Given the description of an element on the screen output the (x, y) to click on. 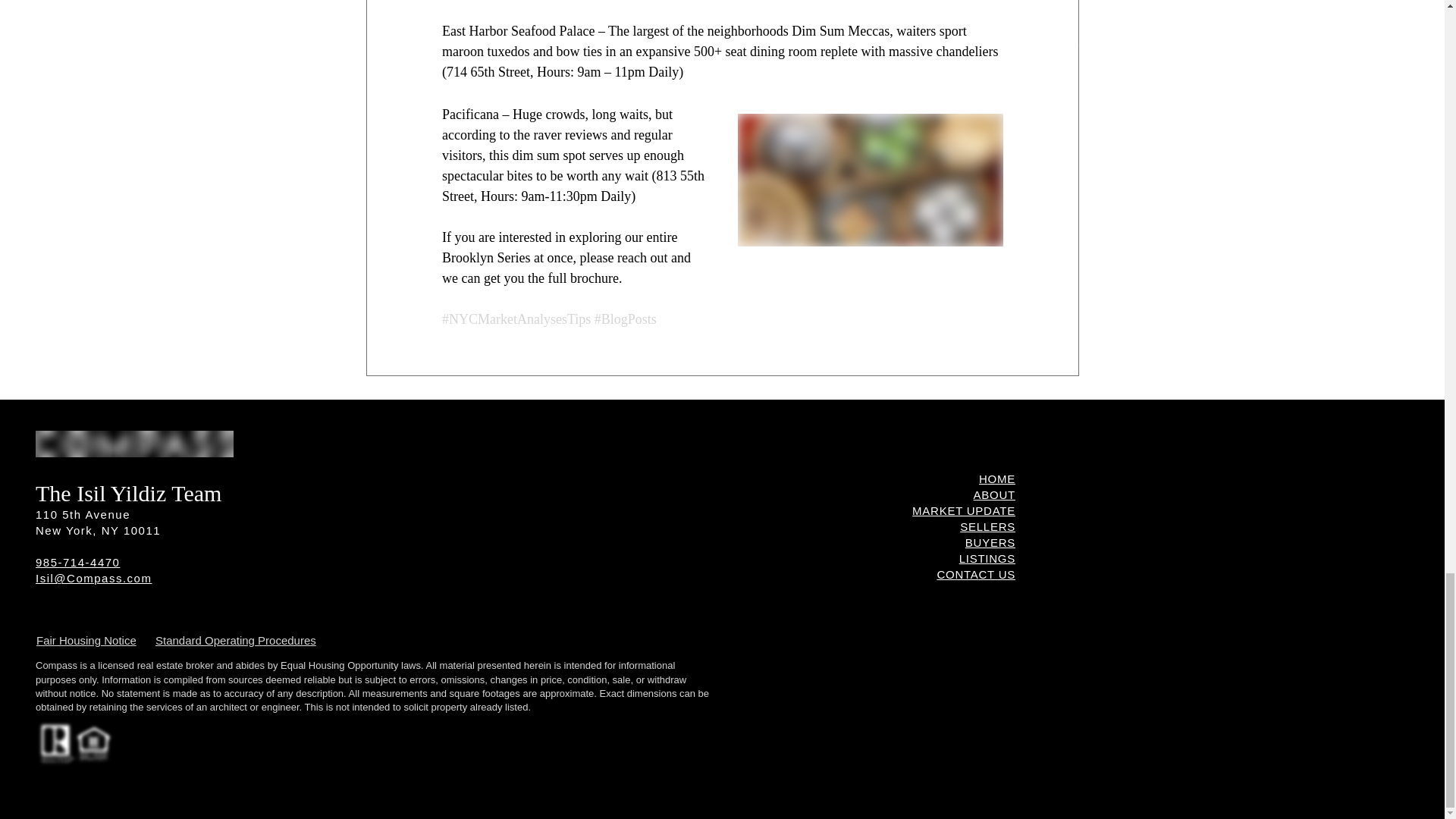
BUYERS (989, 542)
HOME (996, 478)
MARKET UPDATE (963, 510)
ABOUT (994, 494)
SELLERS (986, 526)
985-714-4470 (76, 562)
Fair Housing Notice (86, 640)
LISTINGS (986, 558)
CONTACT US (975, 574)
Standard Operating Procedures (235, 640)
